Given the description of an element on the screen output the (x, y) to click on. 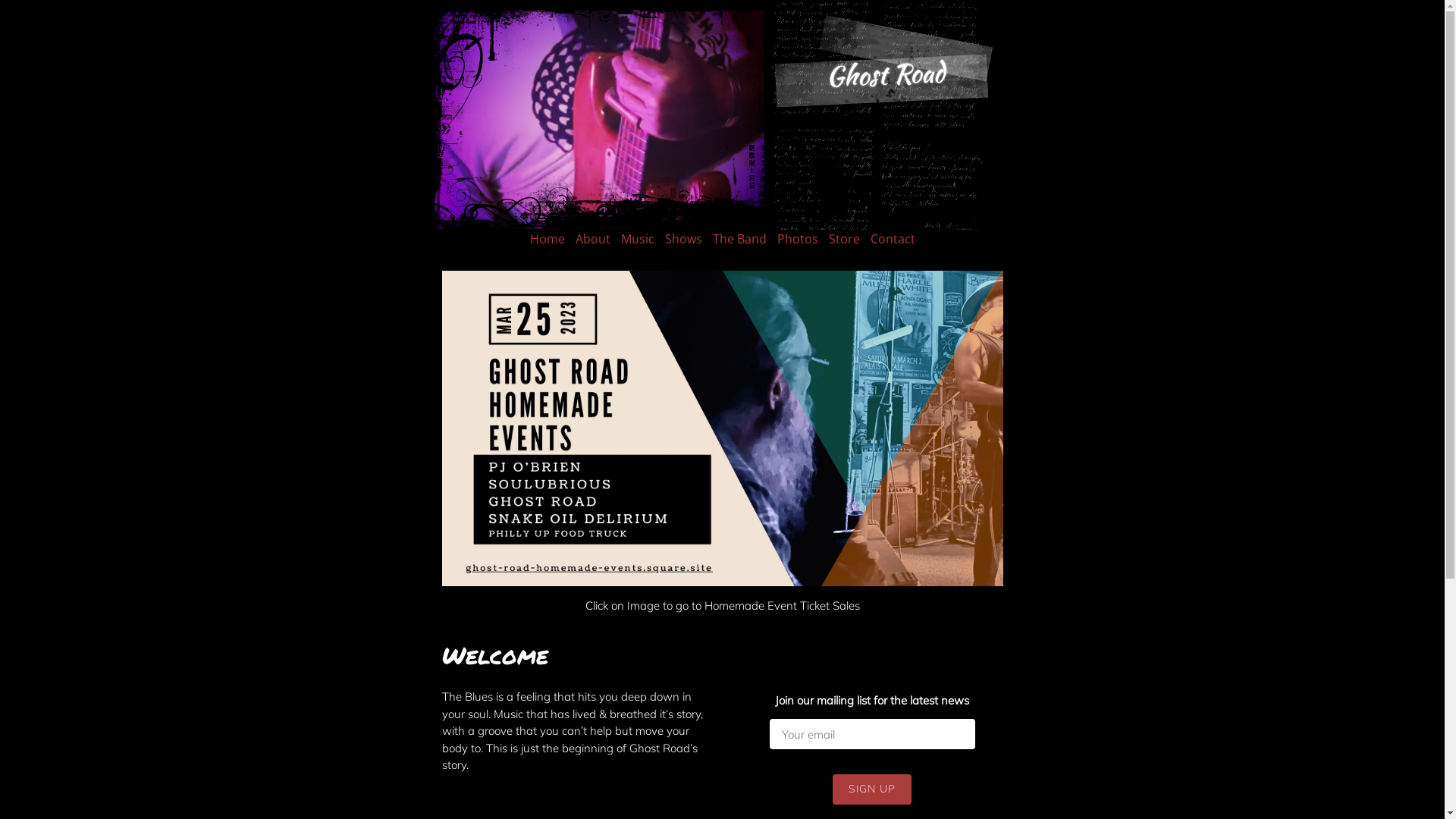
Photos Element type: text (796, 238)
About Element type: text (591, 238)
The Band Element type: text (739, 238)
SIGN UP Element type: text (871, 789)
Shows Element type: text (682, 238)
Ghost Road Element type: text (884, 74)
Music Element type: text (636, 238)
Store Element type: text (843, 238)
Contact Element type: text (892, 238)
Home Element type: text (546, 238)
